Given the description of an element on the screen output the (x, y) to click on. 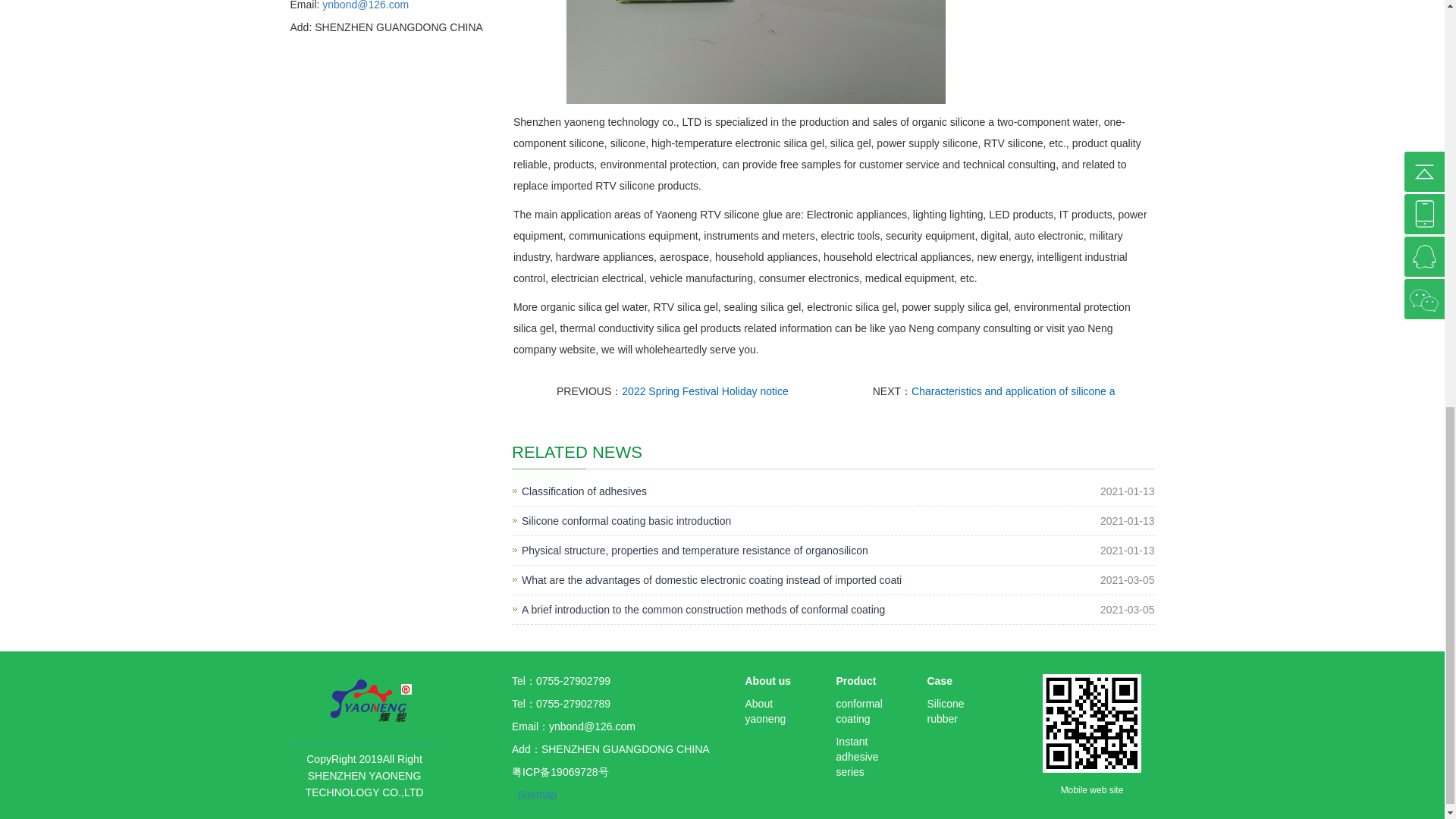
Characteristics and application of silicone adhesive (1013, 390)
Classification of adhesives (583, 491)
Silicone conformal coating basic introduction (625, 520)
2022 Spring Festival Holiday notice (704, 390)
